Given the description of an element on the screen output the (x, y) to click on. 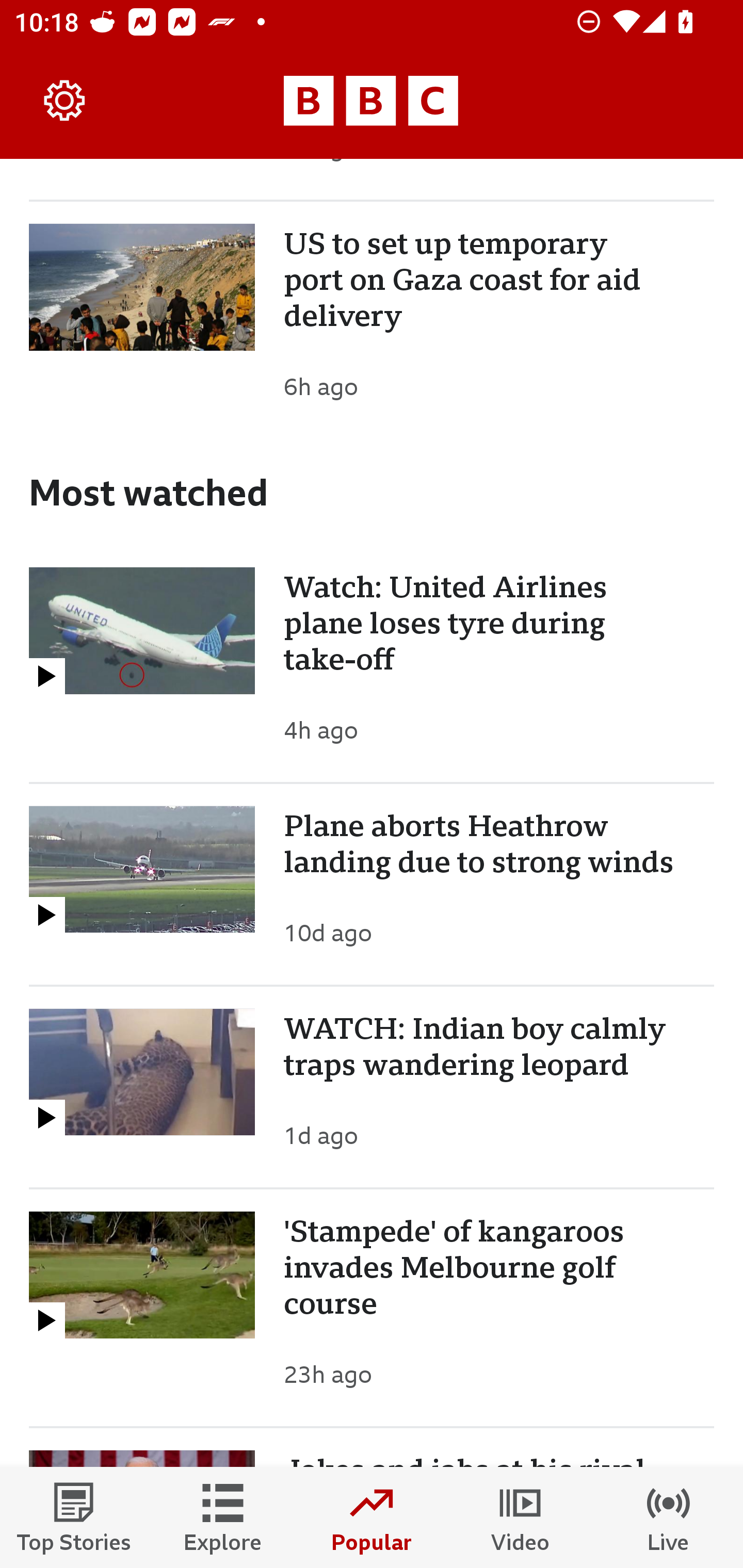
Settings (64, 100)
Top Stories (74, 1517)
Explore (222, 1517)
Video (519, 1517)
Live (668, 1517)
